Given the description of an element on the screen output the (x, y) to click on. 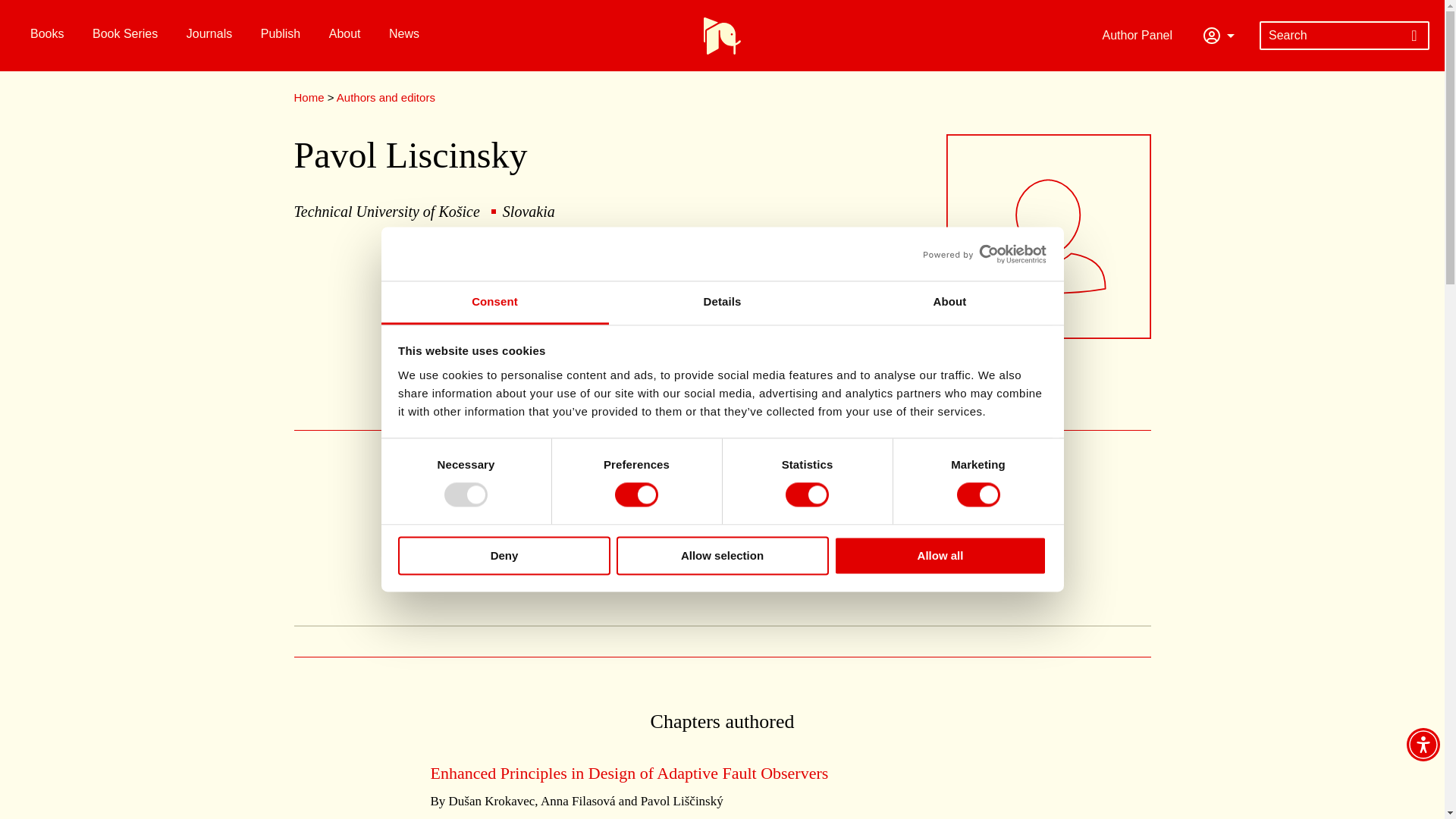
Consent (494, 302)
Details (721, 302)
About (948, 302)
Accessibility Menu (1422, 744)
